Given the description of an element on the screen output the (x, y) to click on. 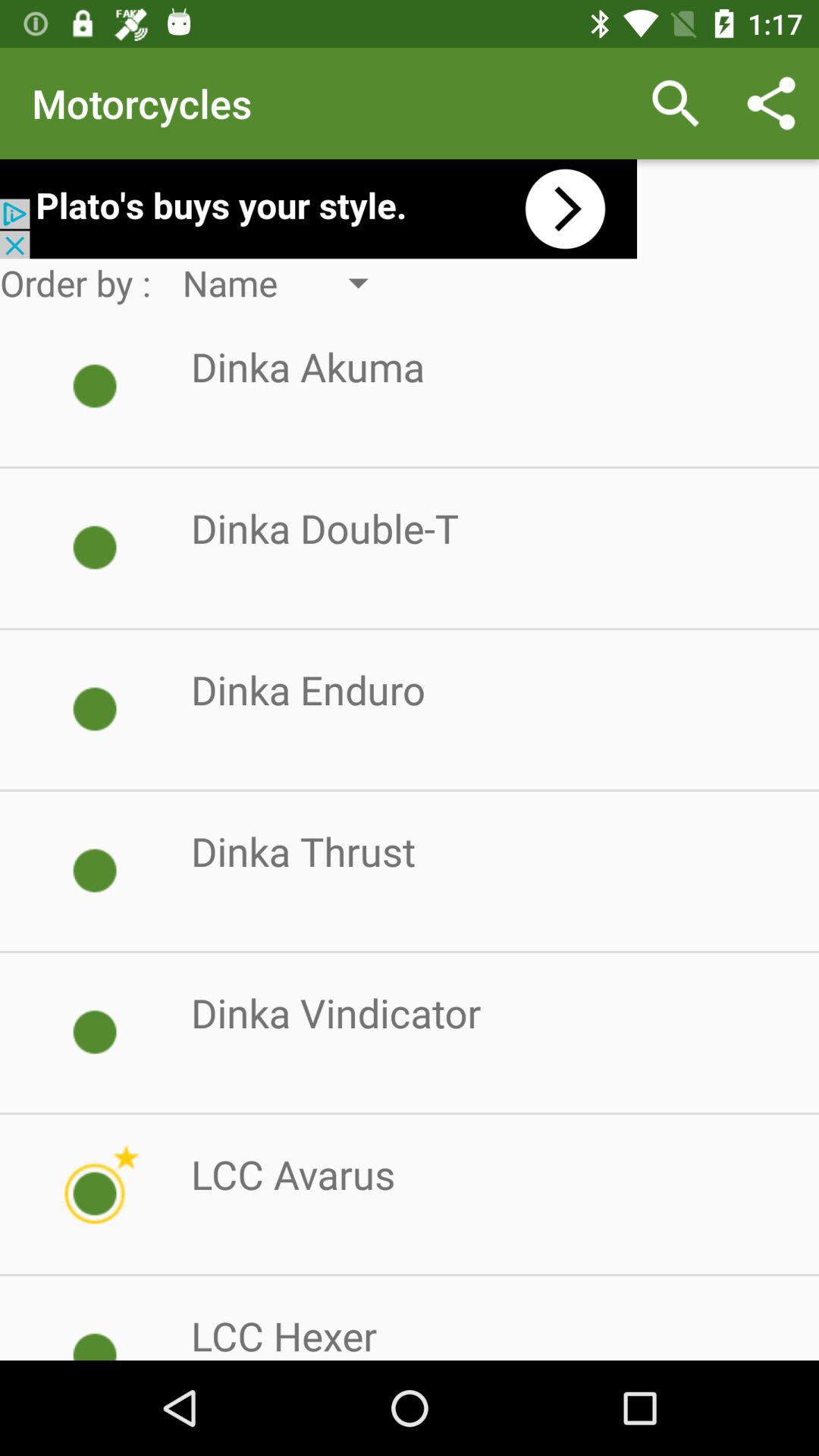
go to plato 's closet site (318, 208)
